Given the description of an element on the screen output the (x, y) to click on. 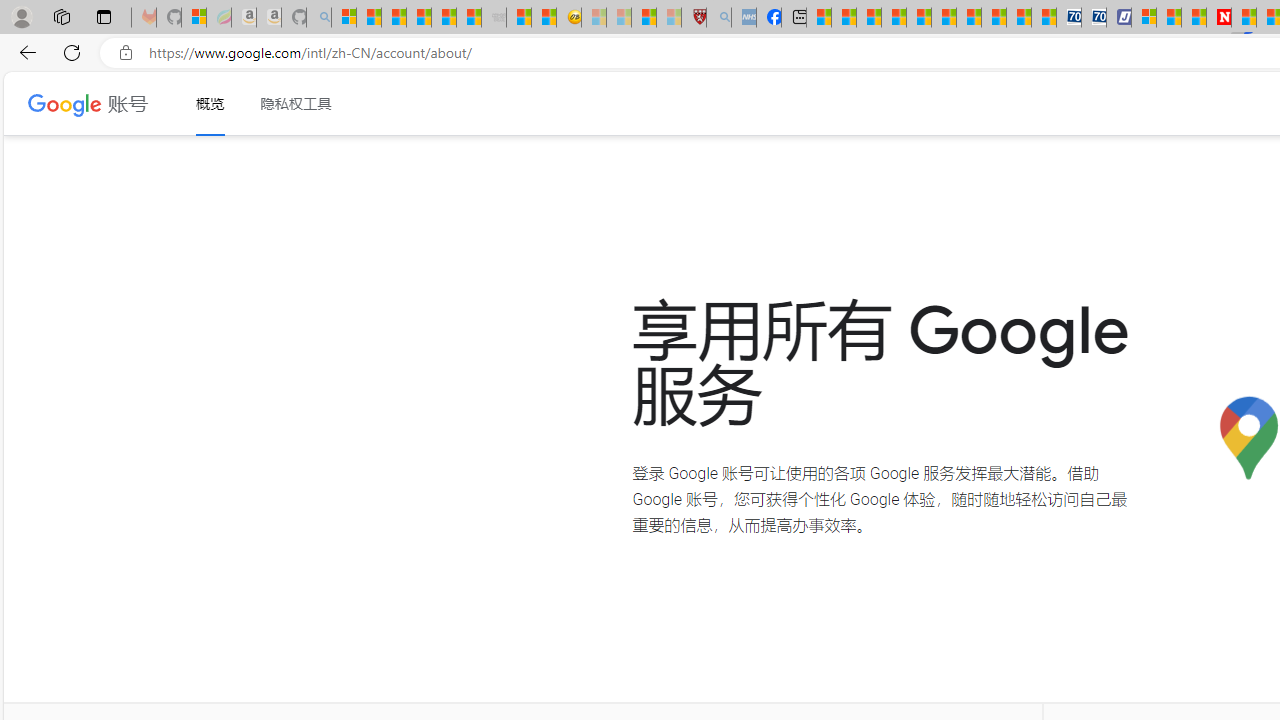
Climate Damage Becomes Too Severe To Reverse (893, 17)
